Given the description of an element on the screen output the (x, y) to click on. 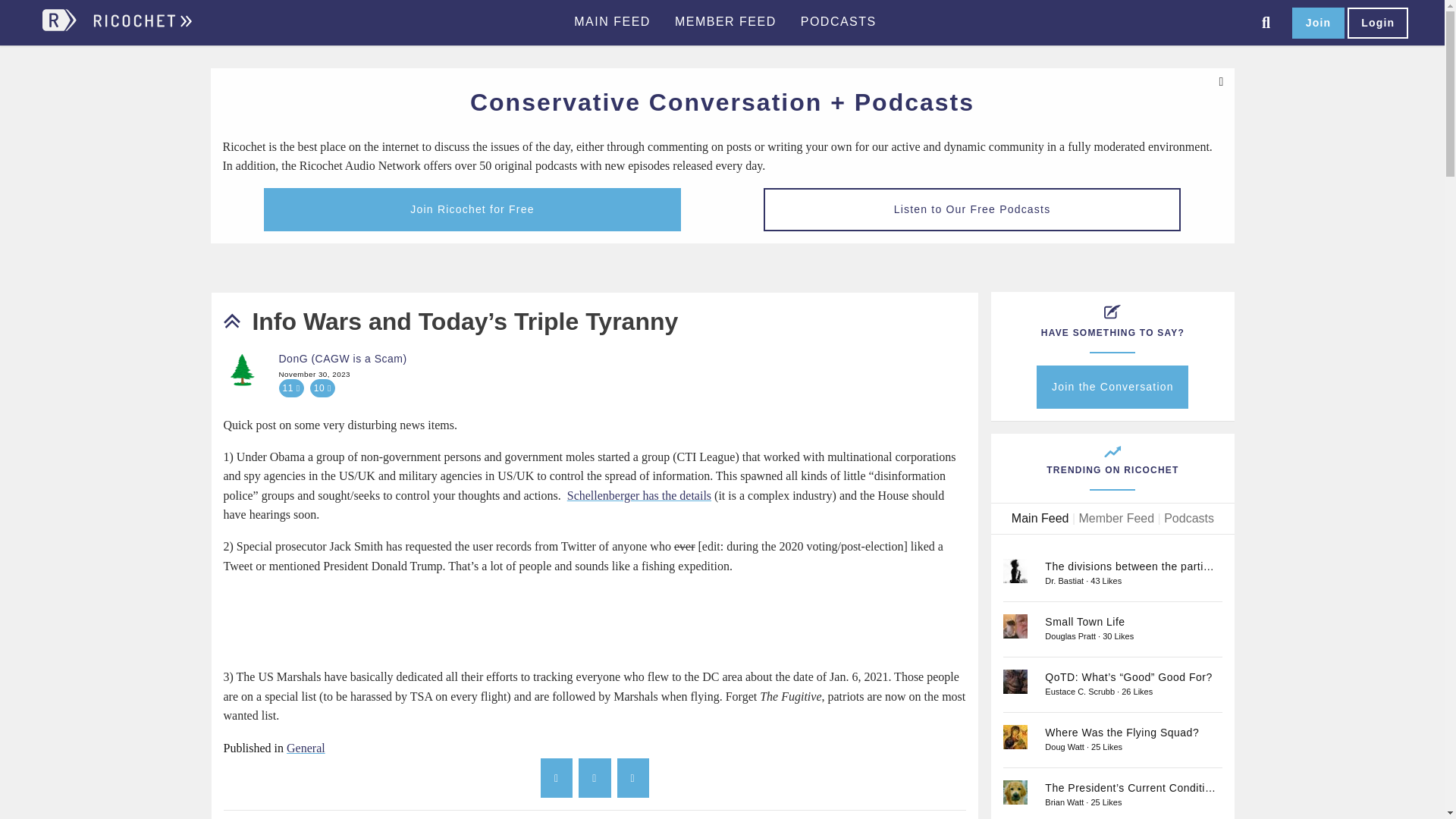
MEMBER FEED (725, 22)
Search (1266, 22)
10 members are following this (322, 388)
PODCASTS (838, 22)
11 Comments (291, 388)
Ricochet Home Page (141, 26)
MAIN FEED (611, 22)
